Given the description of an element on the screen output the (x, y) to click on. 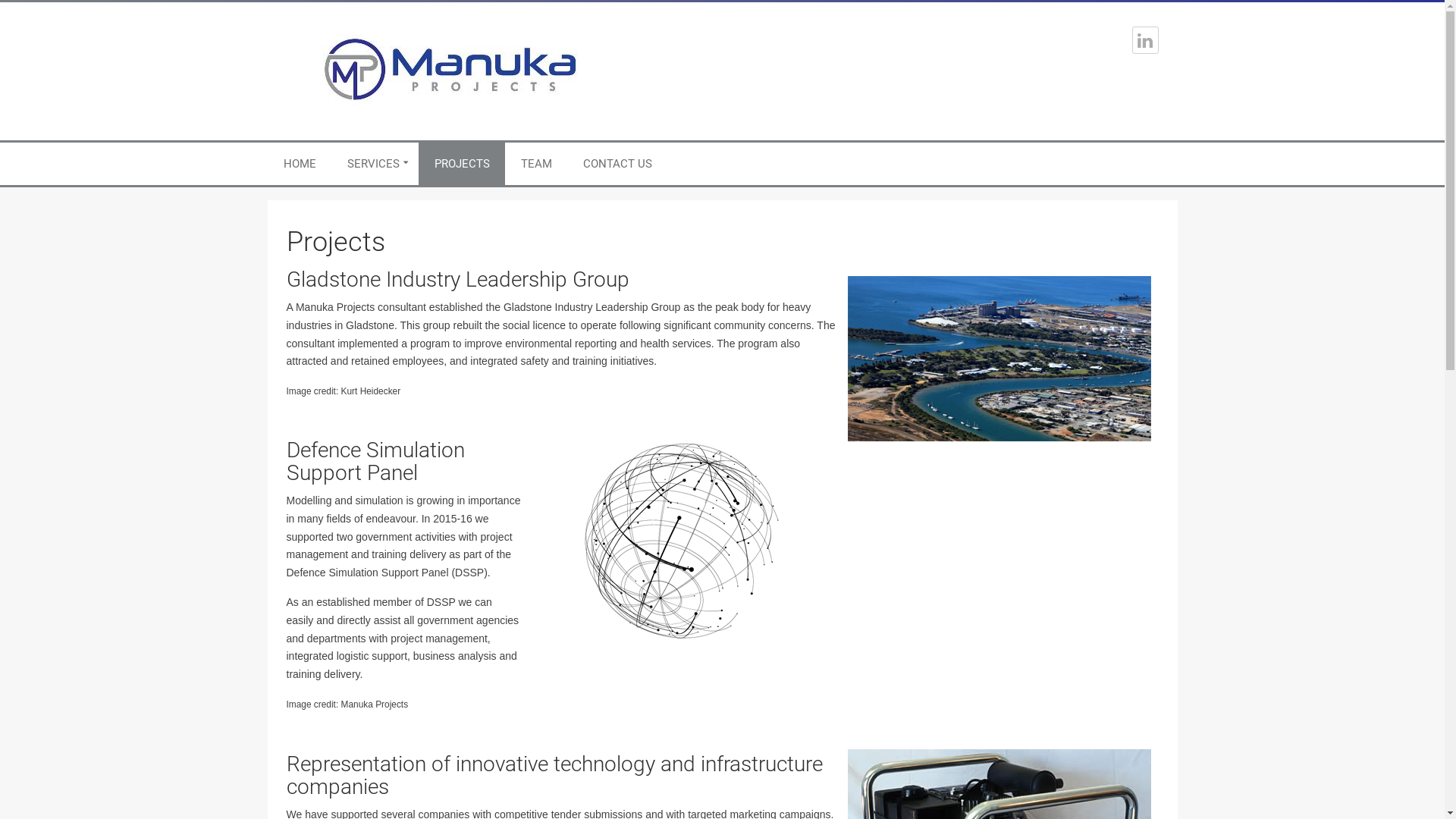
gladstone Element type: hover (999, 358)
CONTACT US Element type: text (616, 163)
PROJECTS Element type: text (461, 163)
range Element type: hover (680, 540)
SERVICES Element type: text (375, 163)
TEAM Element type: text (535, 163)
HOME Element type: text (299, 163)
